Given the description of an element on the screen output the (x, y) to click on. 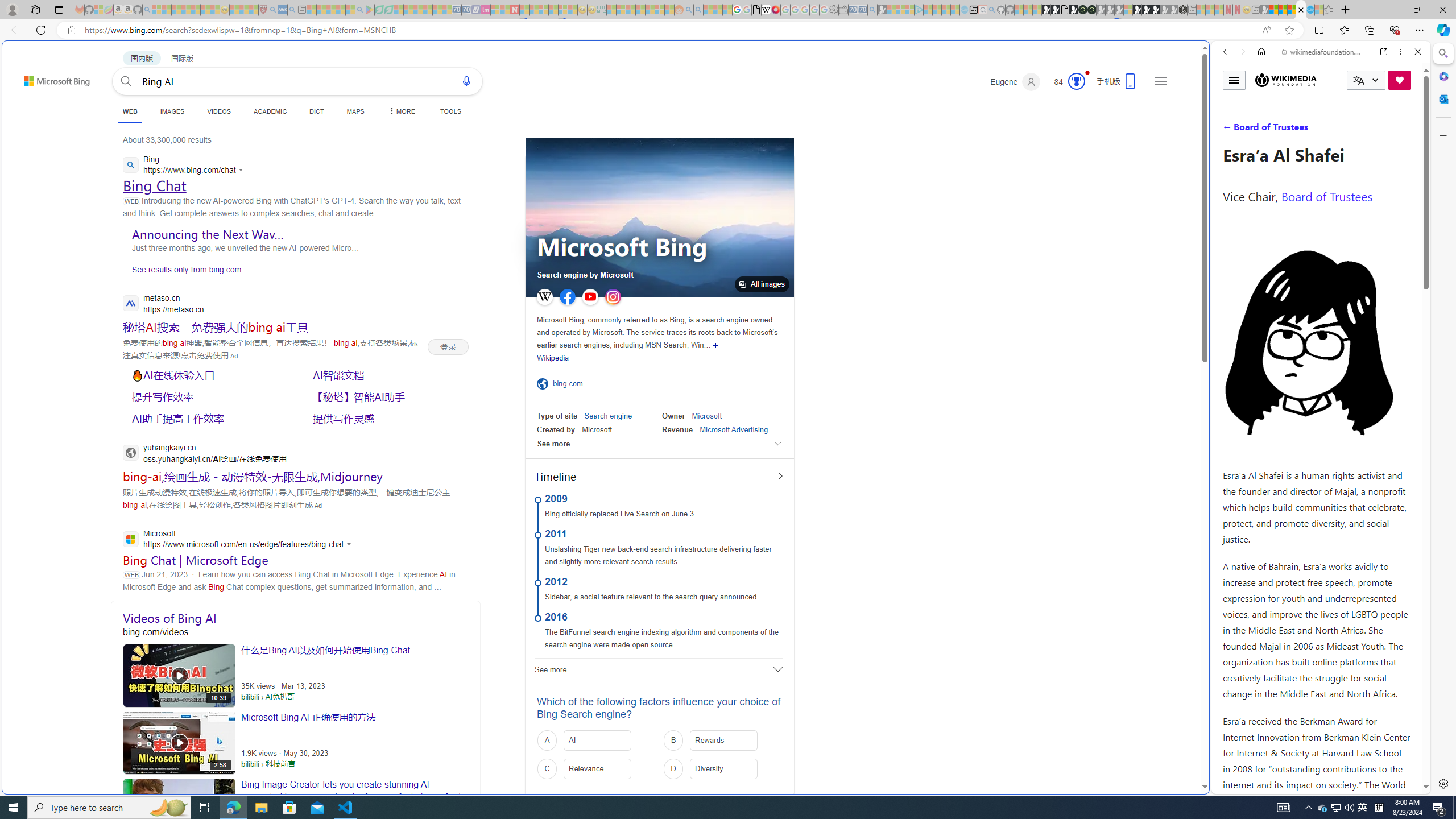
SERP,5517 (207, 374)
SERP,5518 (388, 374)
SEARCH TOOLS (1350, 130)
Timeline (658, 476)
Bing (185, 165)
